Given the description of an element on the screen output the (x, y) to click on. 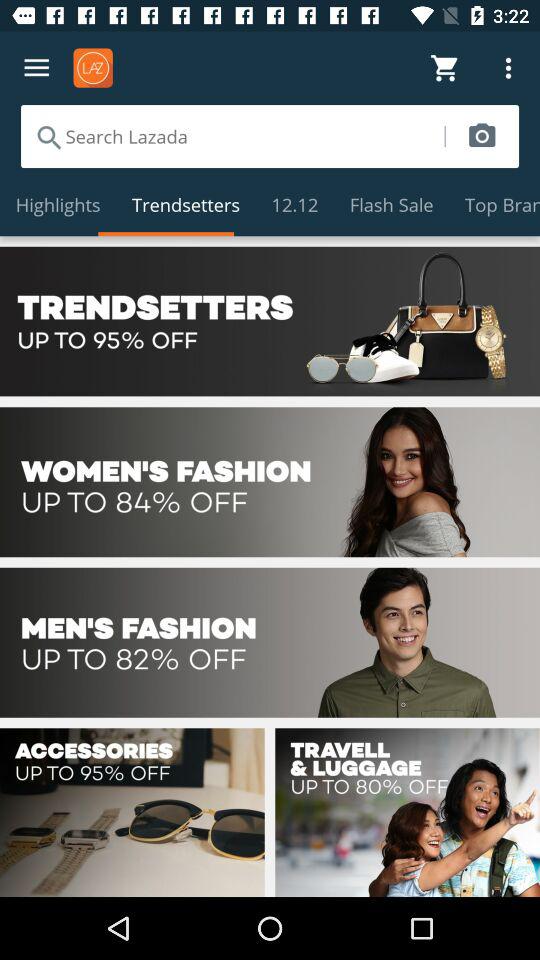
input a search string (232, 136)
